Given the description of an element on the screen output the (x, y) to click on. 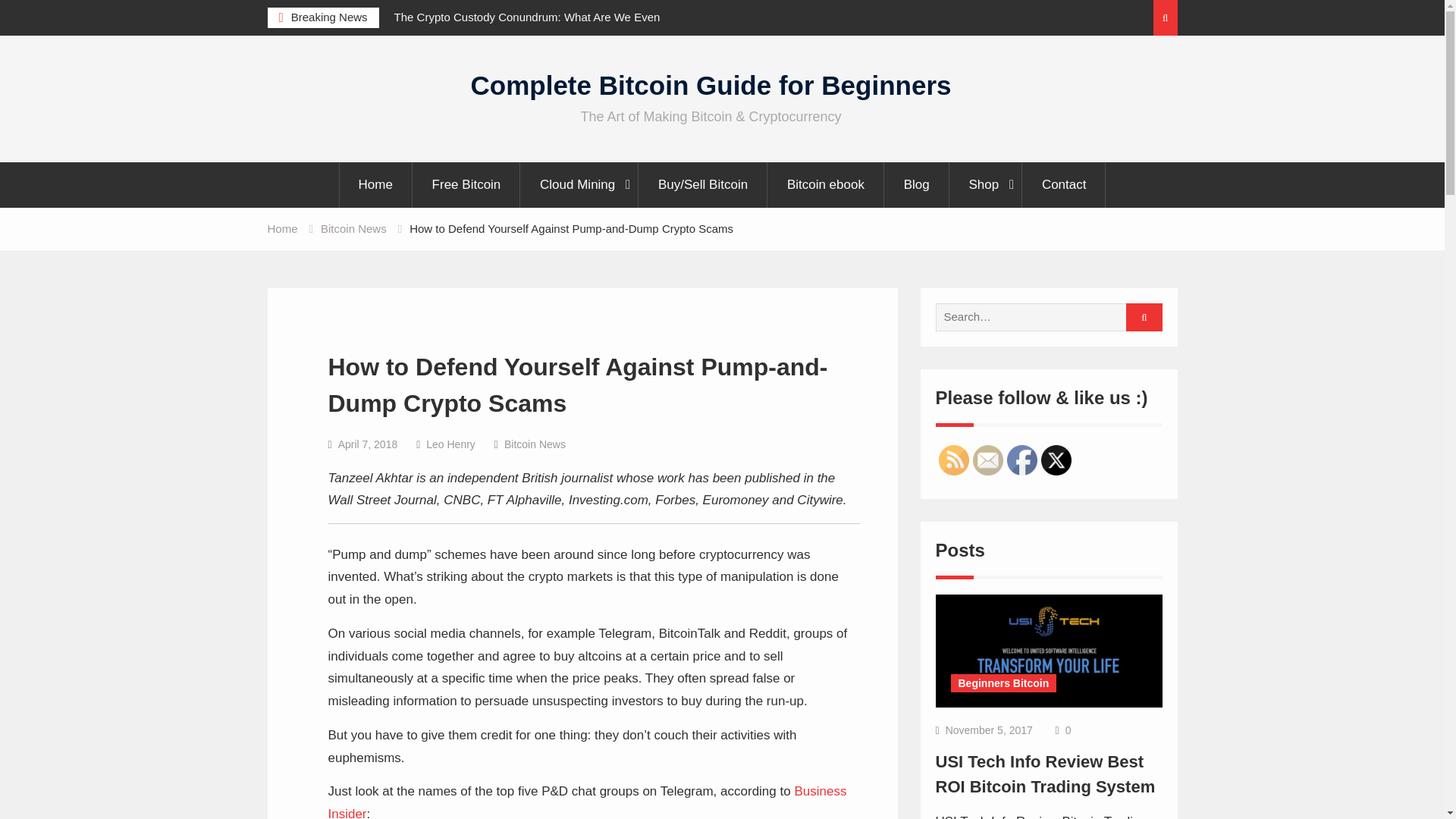
Follow by Email (987, 460)
Leo Henry (451, 444)
Facebook (1021, 460)
Complete Bitcoin Guide for Beginners (711, 84)
Home (281, 227)
Bitcoin News (353, 227)
Bitcoin News (534, 444)
Blog (917, 185)
Home (375, 185)
